Given the description of an element on the screen output the (x, y) to click on. 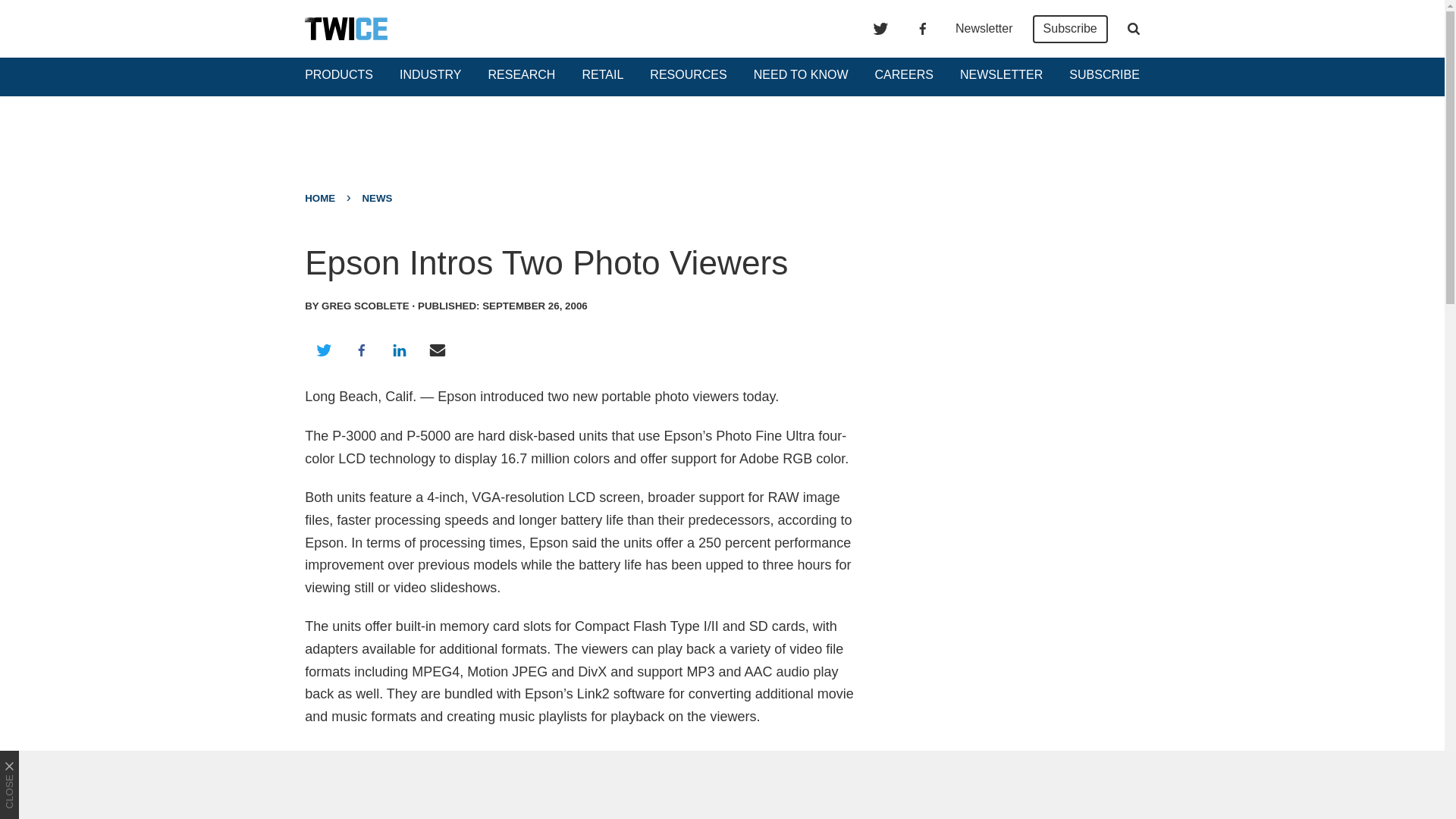
Share on LinkedIn (399, 350)
Share on Twitter (323, 350)
Share on Facebook (361, 350)
Share via Email (438, 350)
Posts by By Greg Scoblete (356, 306)
